Given the description of an element on the screen output the (x, y) to click on. 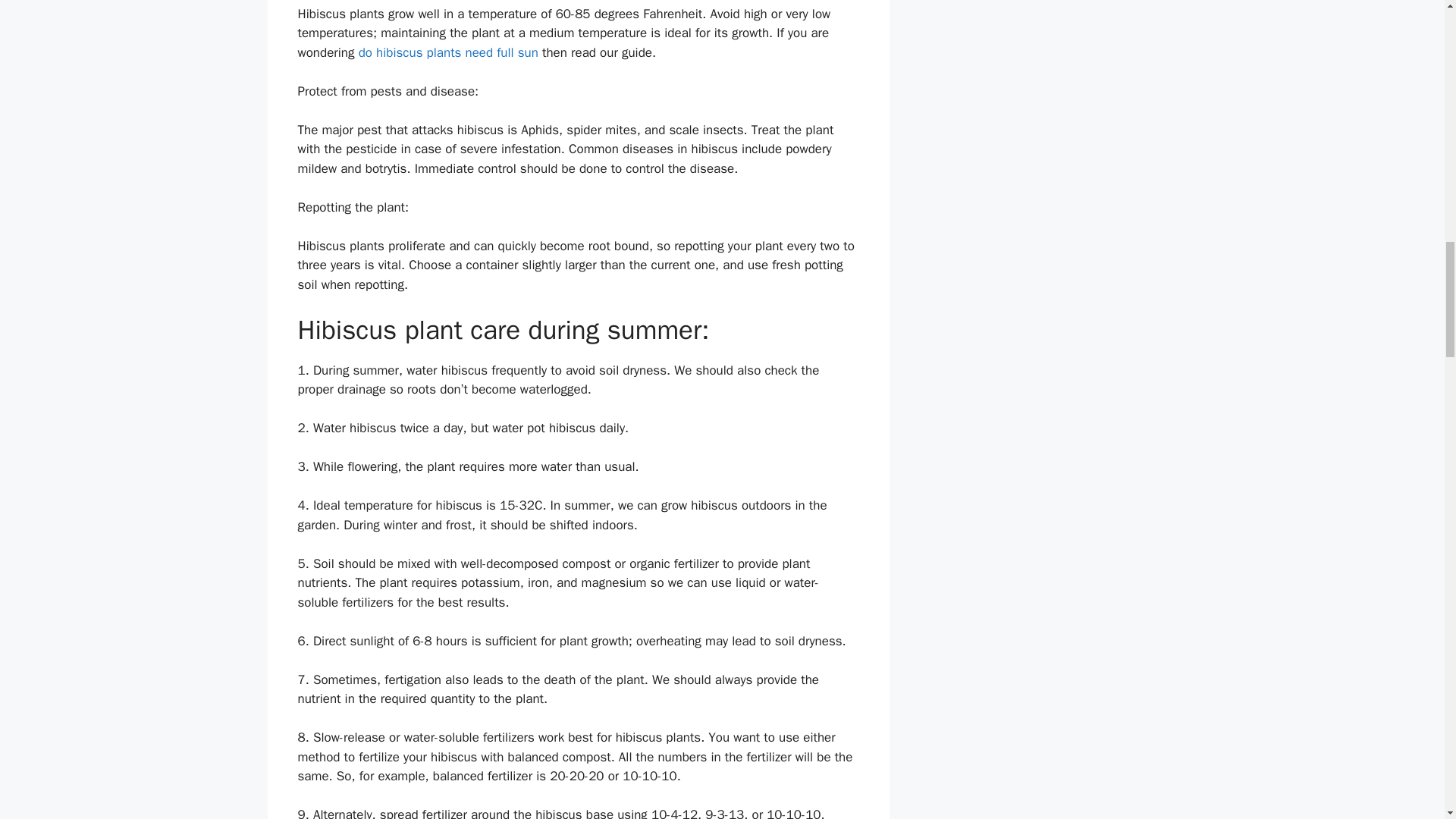
do hibiscus plants need full sun (449, 51)
